Given the description of an element on the screen output the (x, y) to click on. 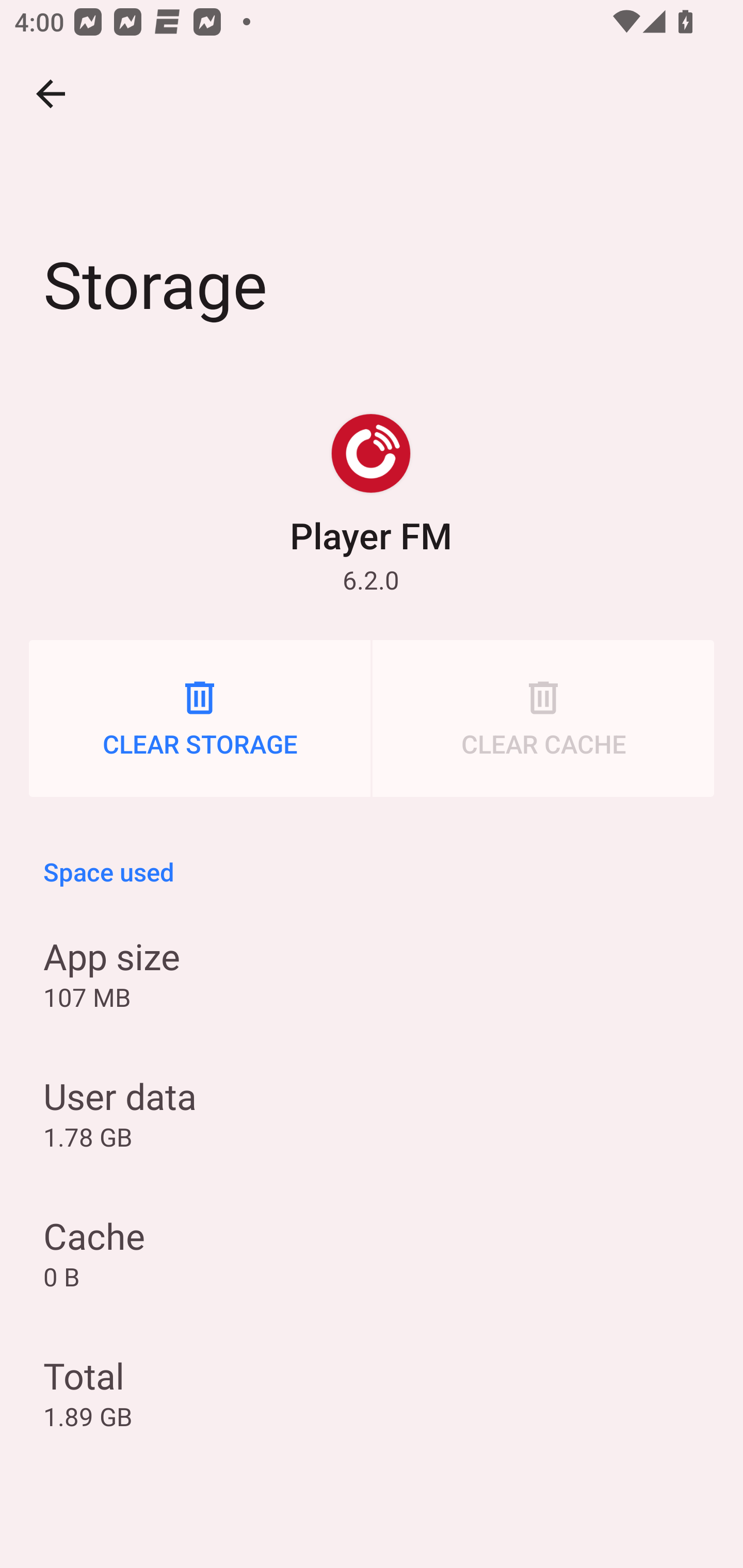
Navigate up (50, 93)
Player FM 6.2.0 (370, 503)
CLEAR STORAGE (199, 717)
CLEAR CACHE (543, 717)
